Given the description of an element on the screen output the (x, y) to click on. 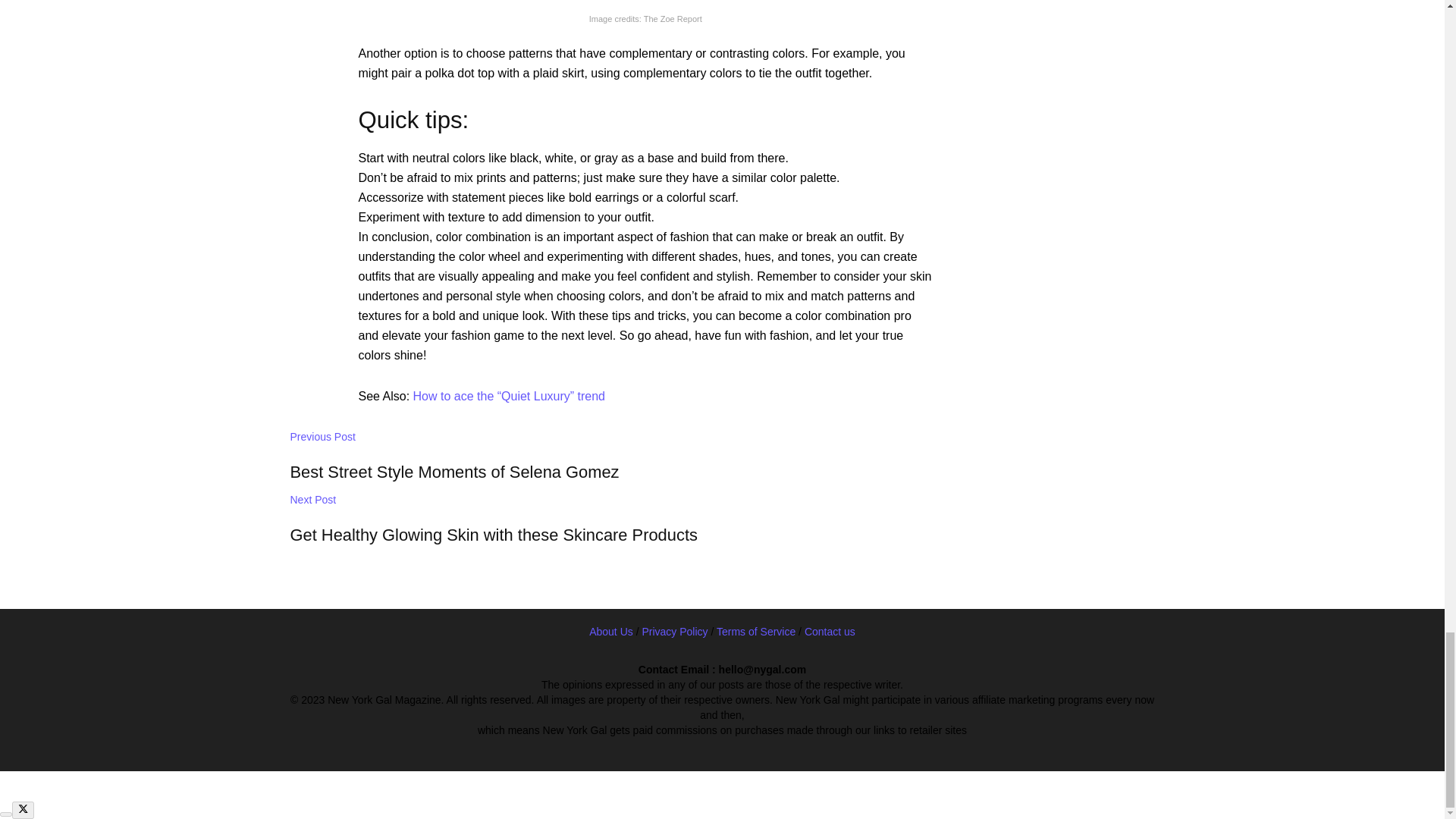
About Us (611, 468)
